Given the description of an element on the screen output the (x, y) to click on. 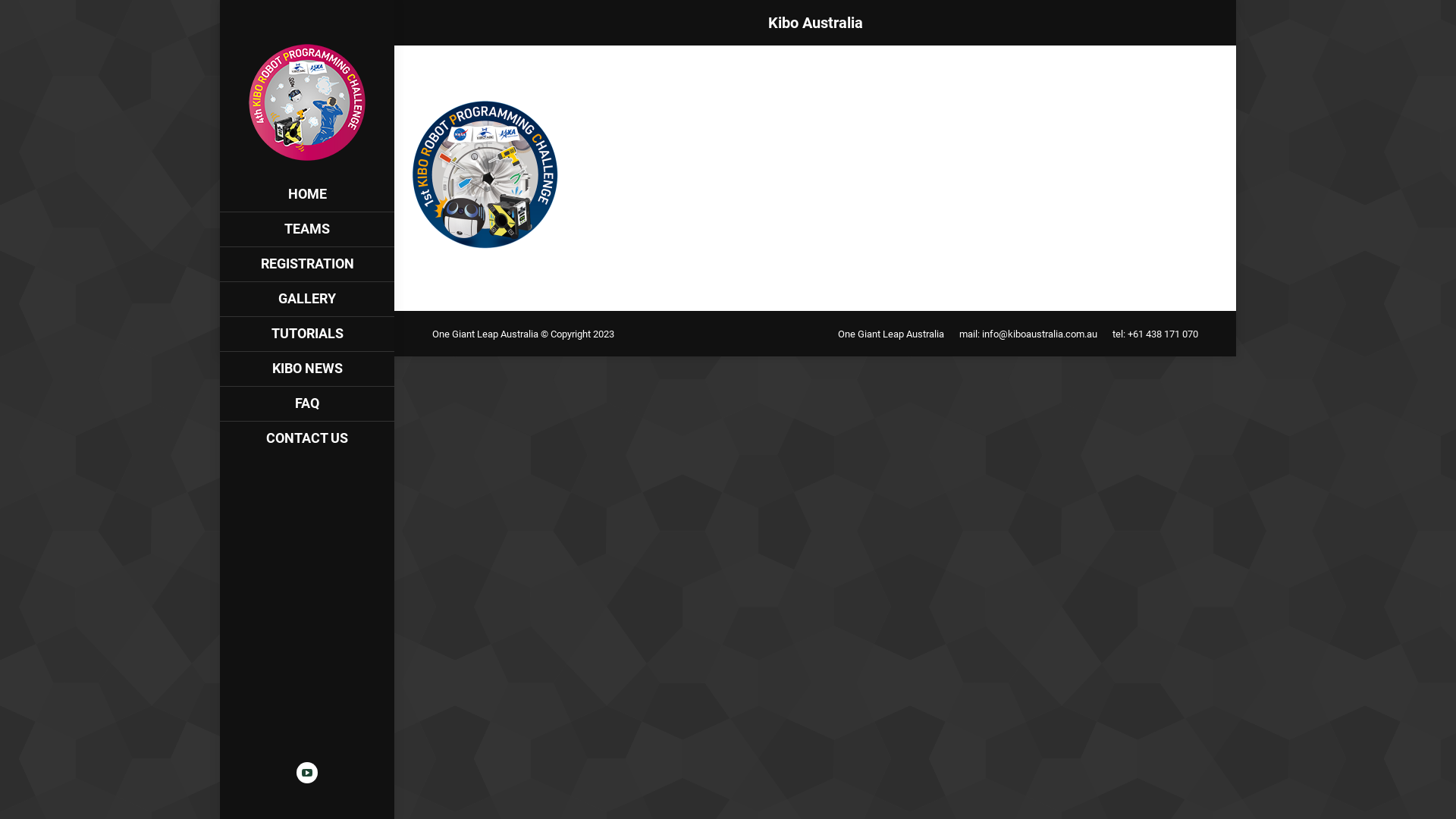
CONTACT US Element type: text (306, 437)
One Giant Leap Australia Element type: text (890, 333)
KIBO NEWS Element type: text (306, 368)
HOME Element type: text (306, 193)
TEAMS Element type: text (306, 228)
TUTORIALS Element type: text (306, 333)
GALLERY Element type: text (306, 298)
FAQ Element type: text (306, 403)
REGISTRATION Element type: text (306, 263)
YouTube page opens in new window Element type: text (306, 772)
